Given the description of an element on the screen output the (x, y) to click on. 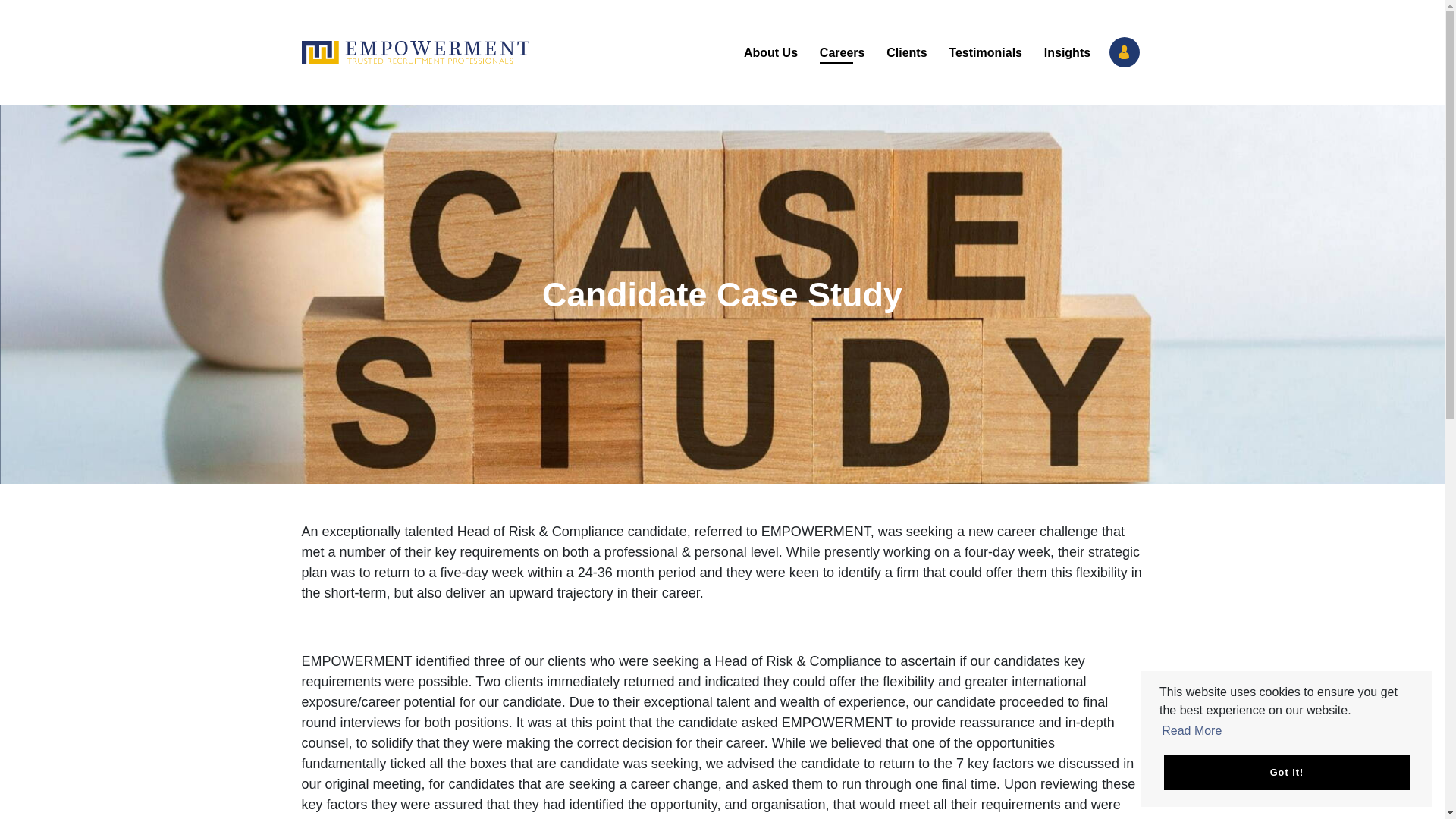
Clients (906, 52)
Read More (1191, 730)
Careers (841, 52)
About Us (771, 52)
Got It! (1286, 772)
